Given the description of an element on the screen output the (x, y) to click on. 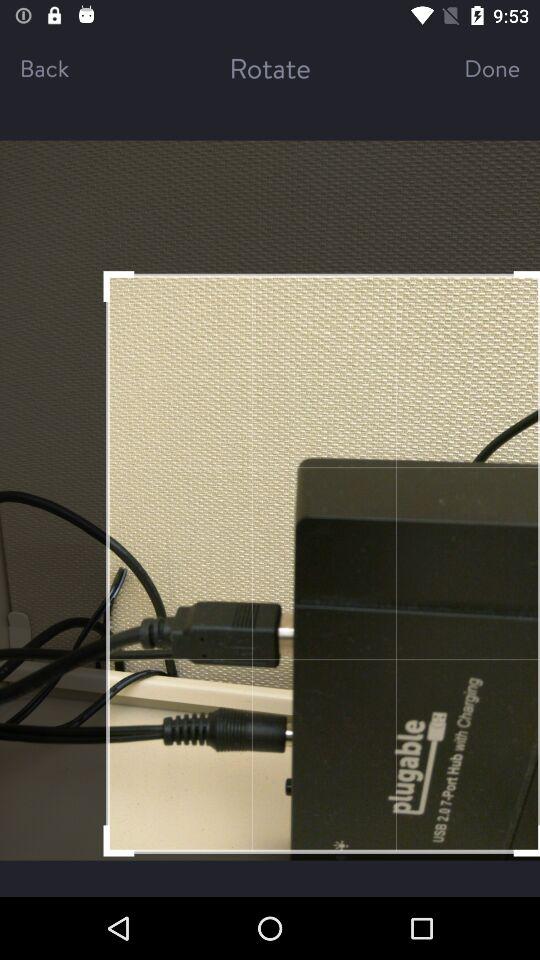
tap the item next to the rotate (65, 67)
